Given the description of an element on the screen output the (x, y) to click on. 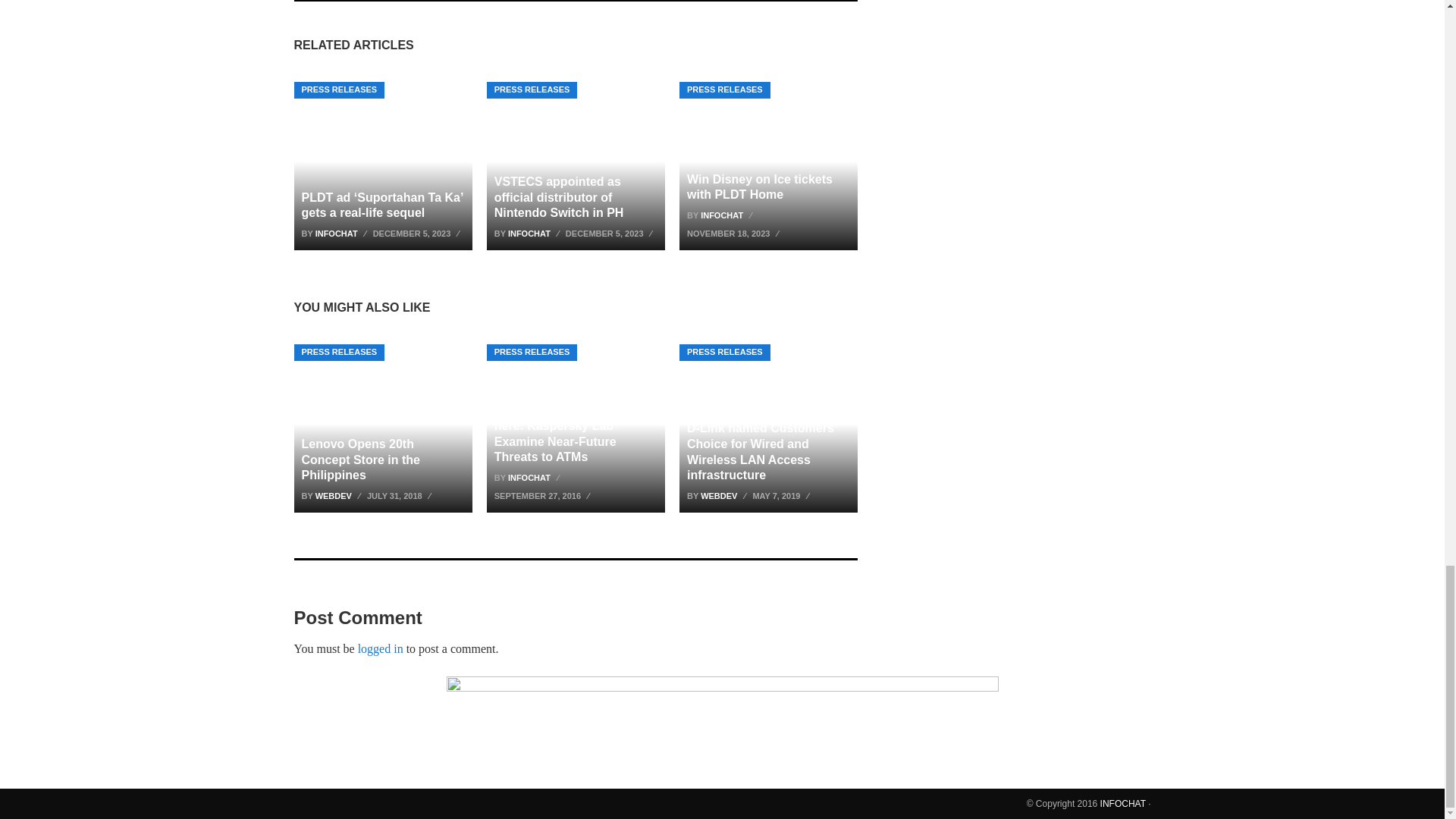
Tuesday, December 5, 2023, 3:27 pm (611, 233)
Tuesday, July 31, 2018, 1:29 pm (400, 495)
Saturday, November 18, 2023, 12:48 pm (735, 233)
Tuesday, May 7, 2019, 3:26 pm (782, 495)
Tuesday, September 27, 2016, 9:36 am (544, 495)
Tuesday, December 5, 2023, 4:47 pm (418, 233)
